Given the description of an element on the screen output the (x, y) to click on. 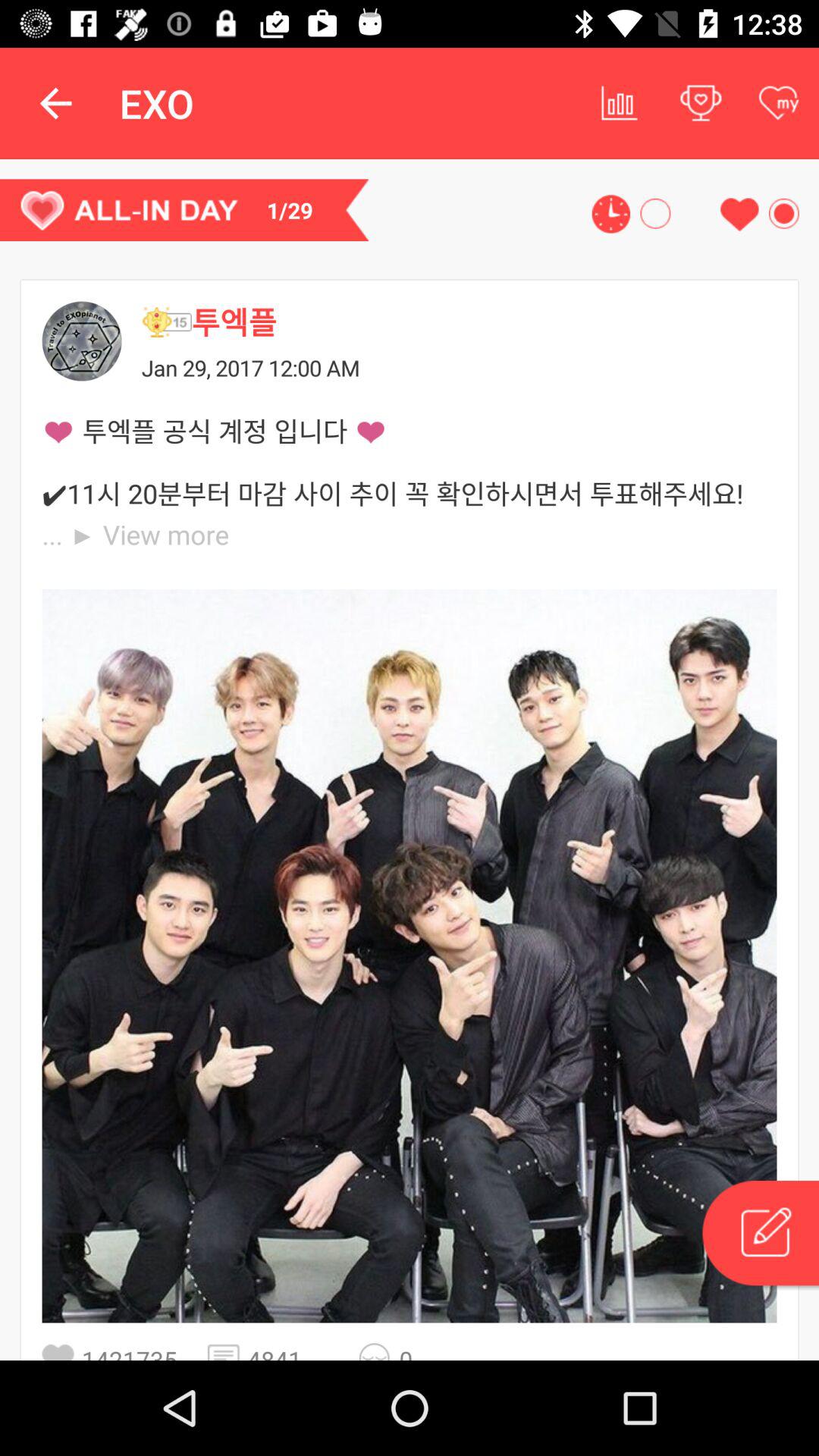
turn off the icon next to the exo item (55, 103)
